Given the description of an element on the screen output the (x, y) to click on. 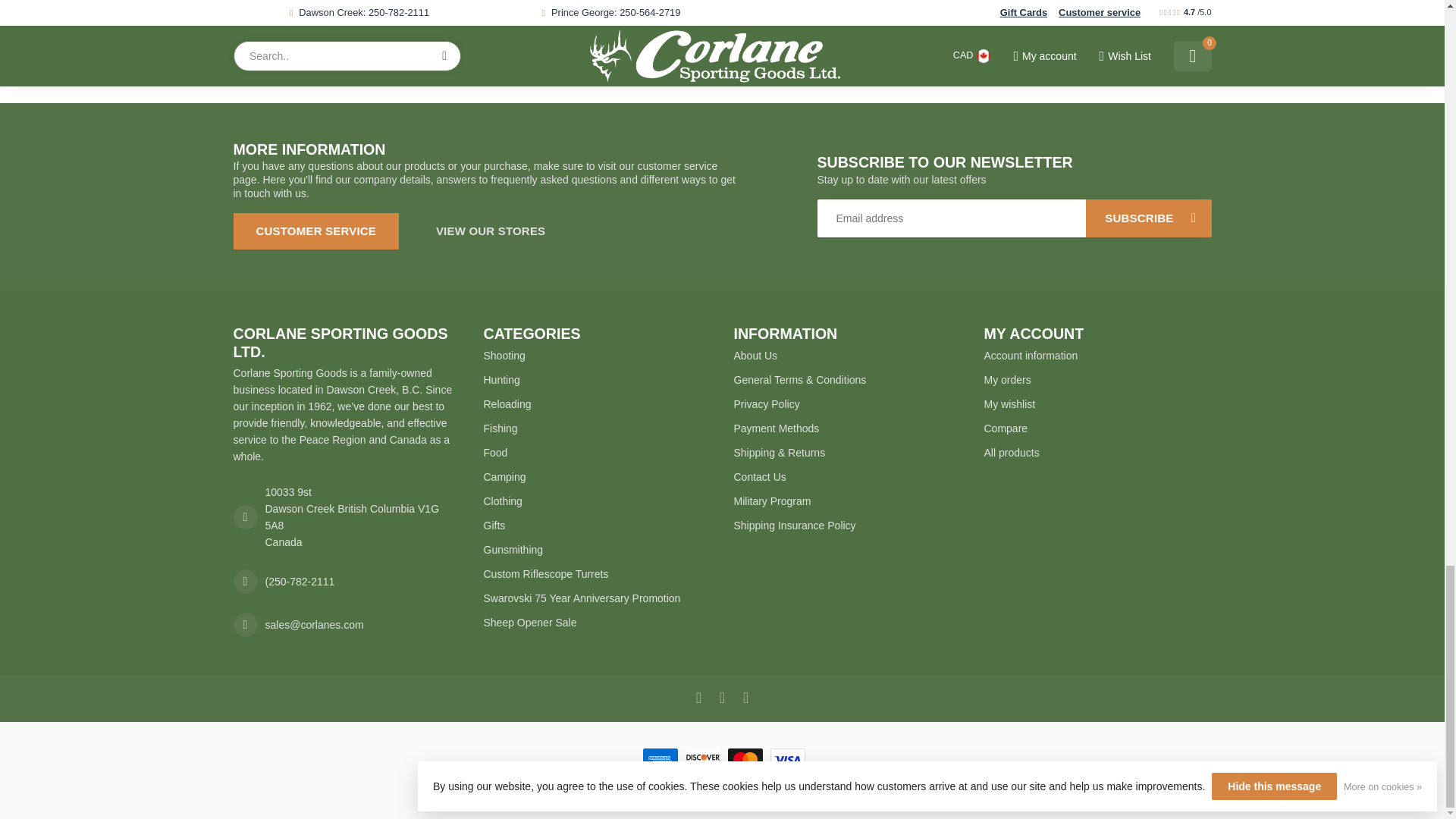
Privacy Policy (846, 404)
About Us (846, 355)
Contact Us (846, 476)
Payment Methods (846, 428)
Military Program (846, 500)
1 (383, 15)
